Given the description of an element on the screen output the (x, y) to click on. 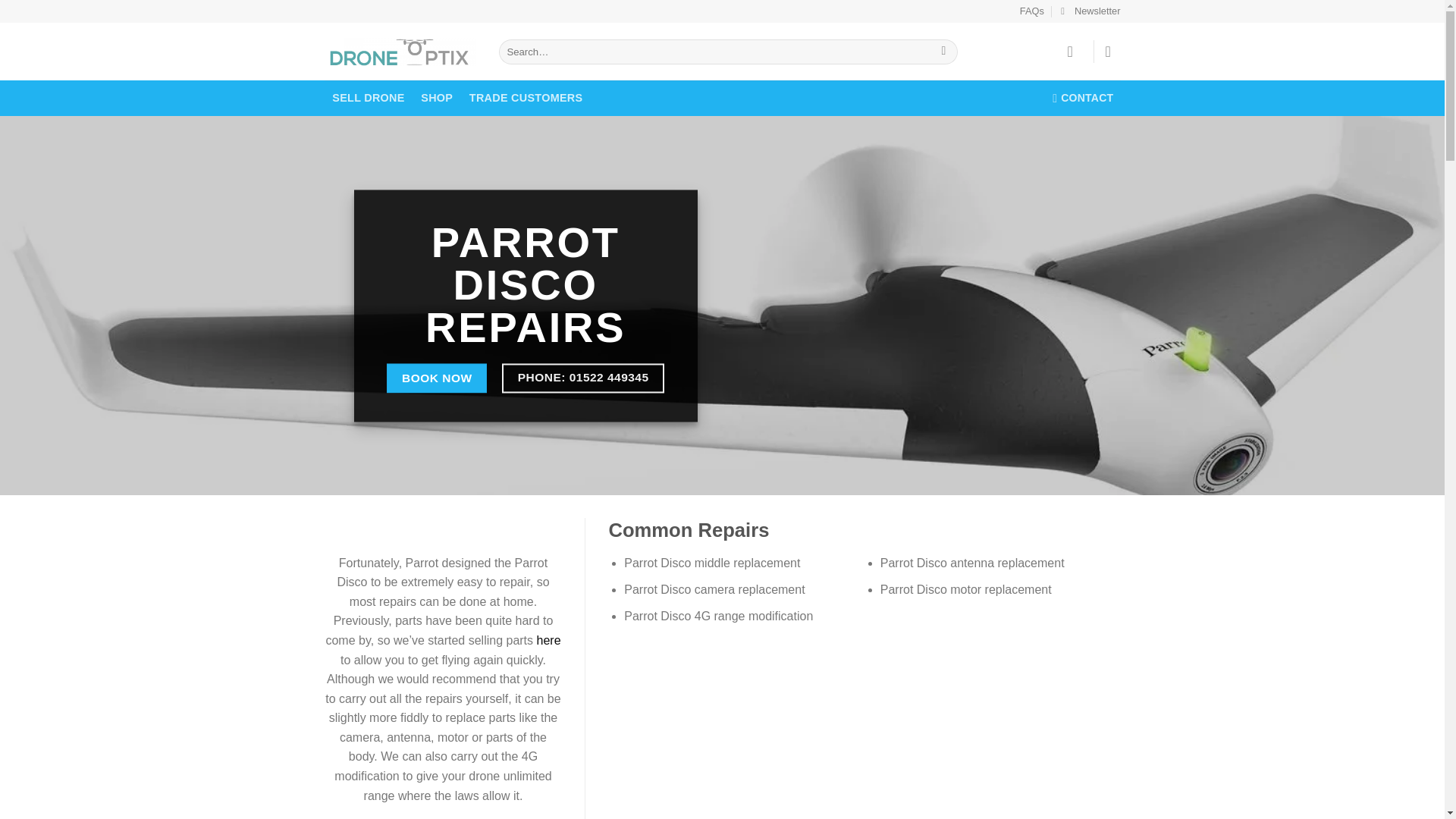
PHONE: 01522 449345 (582, 378)
SELL DRONE (368, 98)
Search (943, 52)
BOOK NOW (436, 378)
FAQs (1031, 11)
Sign up for Newsletter (1090, 11)
TRADE CUSTOMERS (526, 98)
Droneoptix Parts - Genuine DJI Drone Parts (400, 51)
CONTACT (1083, 98)
here (548, 640)
